Given the description of an element on the screen output the (x, y) to click on. 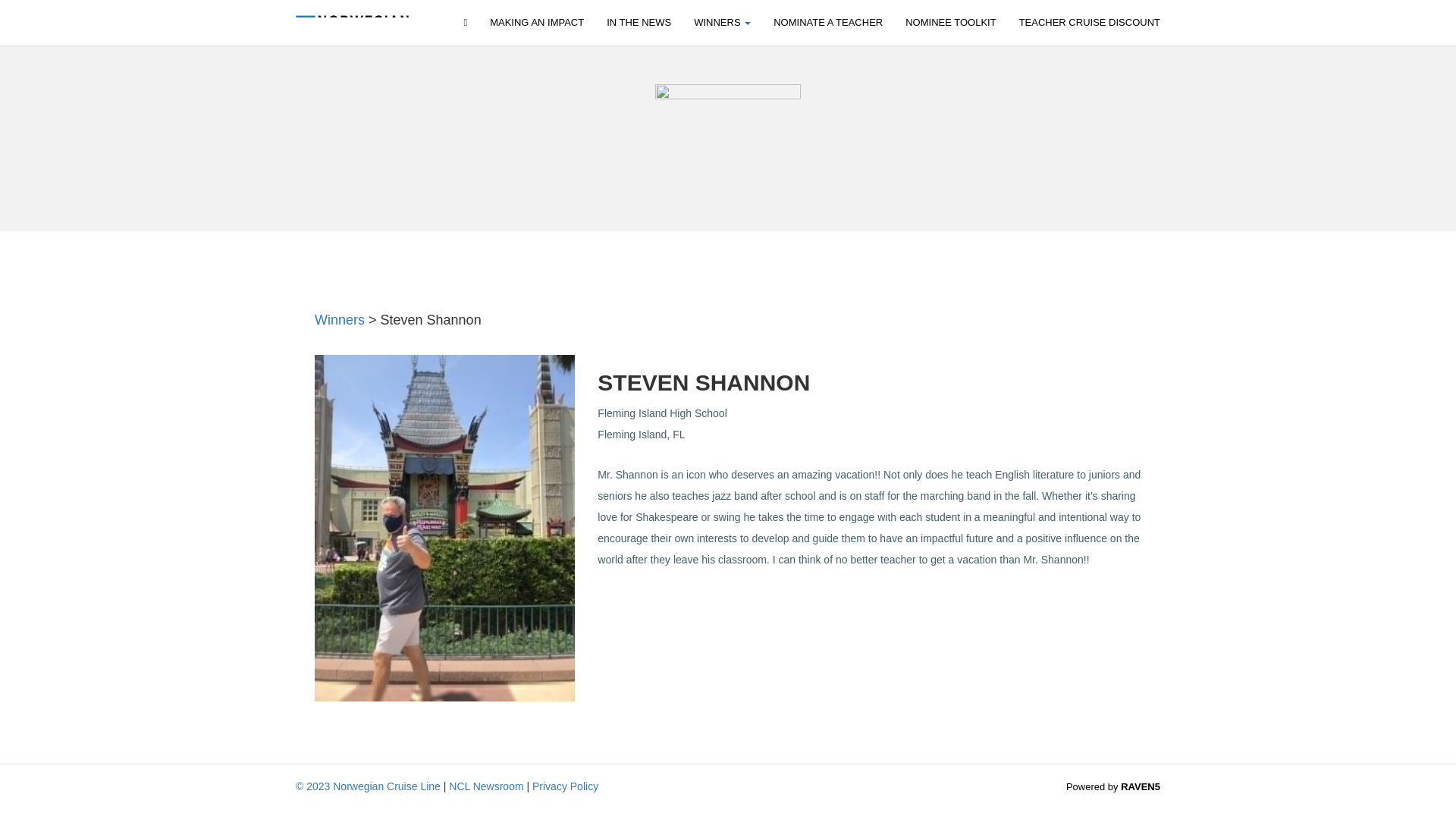
MAKING AN IMPACT (537, 22)
TEACHER CRUISE DISCOUNT (1089, 22)
Privacy Policy (565, 786)
Winners (721, 22)
NOMINEE TOOLKIT (950, 22)
WINNERS (721, 22)
Powered by RAVEN5 (1112, 786)
NCL Newsroom (485, 786)
NOMINATE A TEACHER (827, 22)
In The News (638, 22)
